Given the description of an element on the screen output the (x, y) to click on. 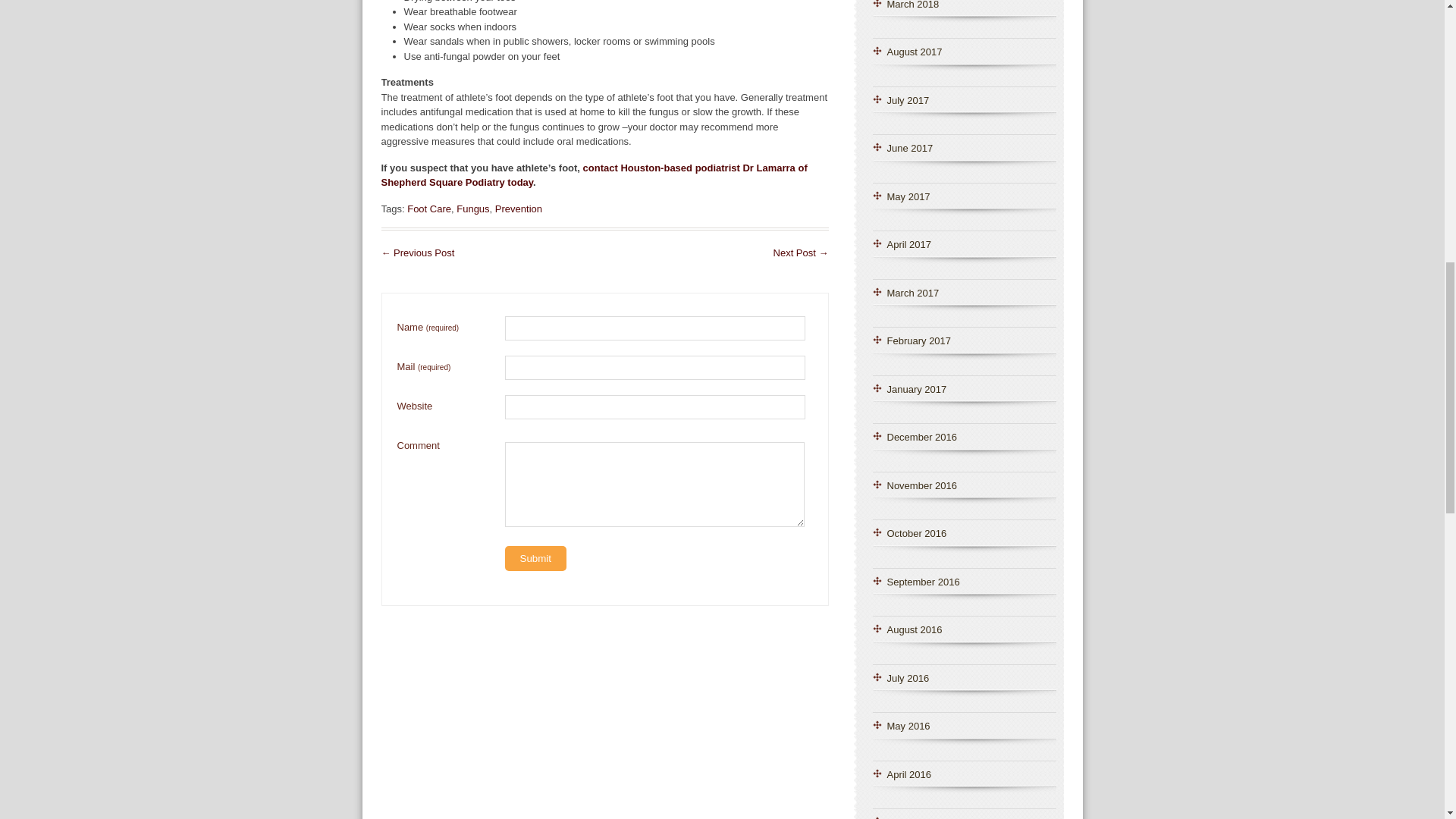
August 2017 (914, 51)
Fungus (473, 208)
July 2017 (908, 99)
Submit (535, 558)
March 2018 (912, 4)
Foot Care (429, 208)
Prevention (518, 208)
Submit (535, 558)
